Given the description of an element on the screen output the (x, y) to click on. 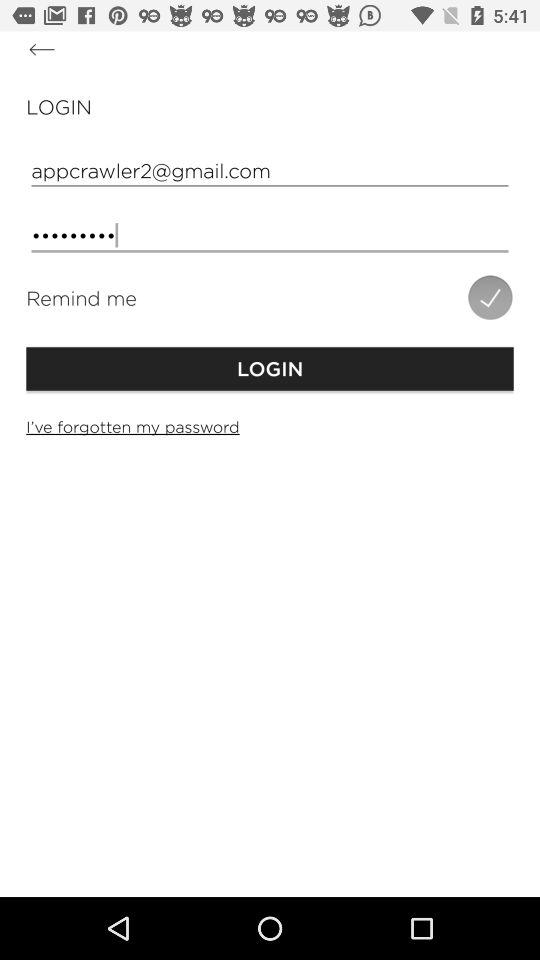
turn off the i ve forgotten icon (269, 426)
